Given the description of an element on the screen output the (x, y) to click on. 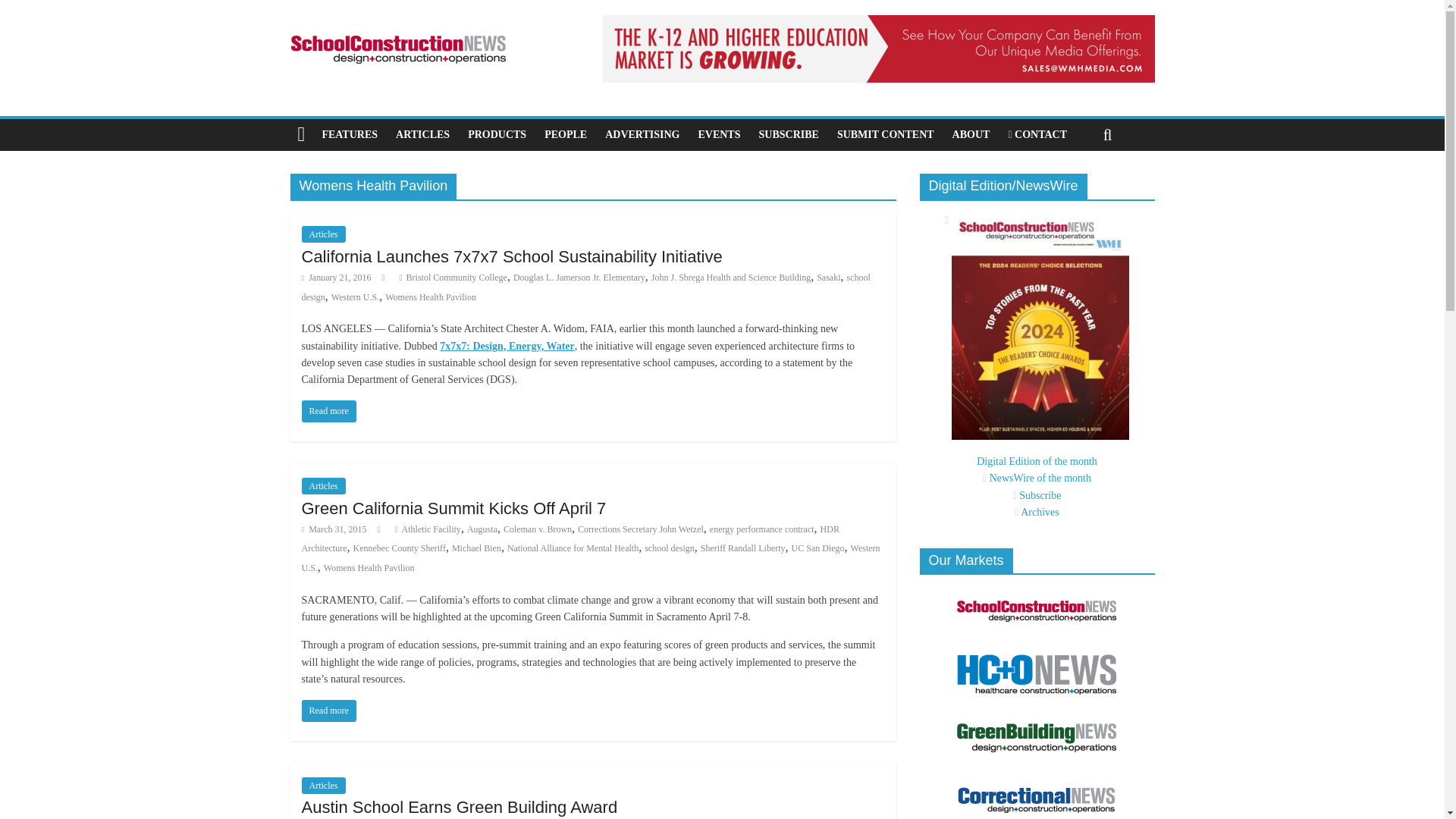
7:09 pm (336, 276)
ABOUT (970, 134)
California Launches 7x7x7 School Sustainability Initiative (328, 411)
Athletic Facility (431, 529)
Austin School Earns Green Building Award (459, 806)
California Launches 7x7x7 School Sustainability Initiative (511, 256)
January 21, 2016 (336, 276)
Womens Health Pavilion (430, 296)
7x7x7: Design, Energy, Water (506, 346)
PEOPLE (565, 134)
